Given the description of an element on the screen output the (x, y) to click on. 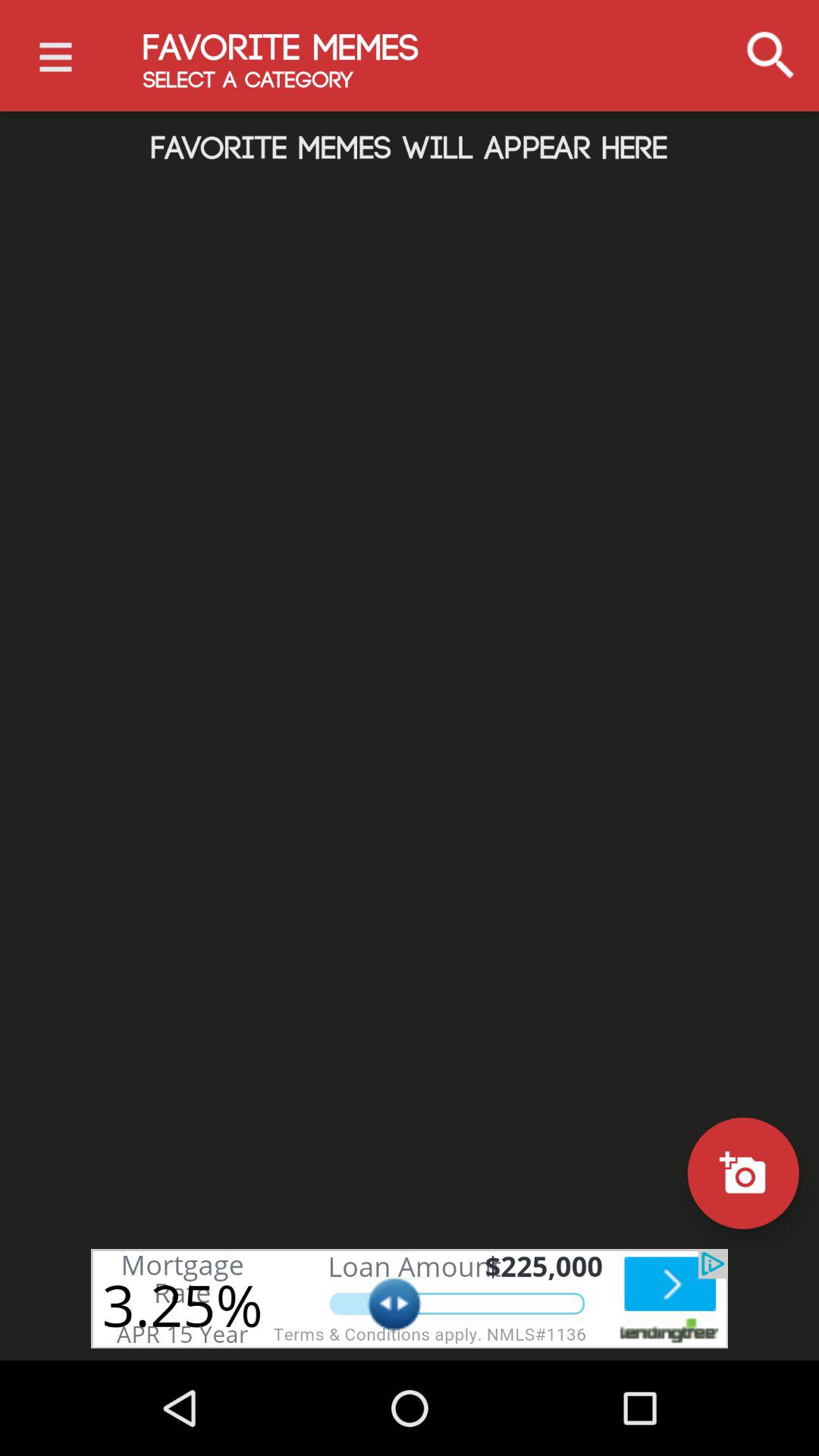
camera on button (743, 1173)
